Given the description of an element on the screen output the (x, y) to click on. 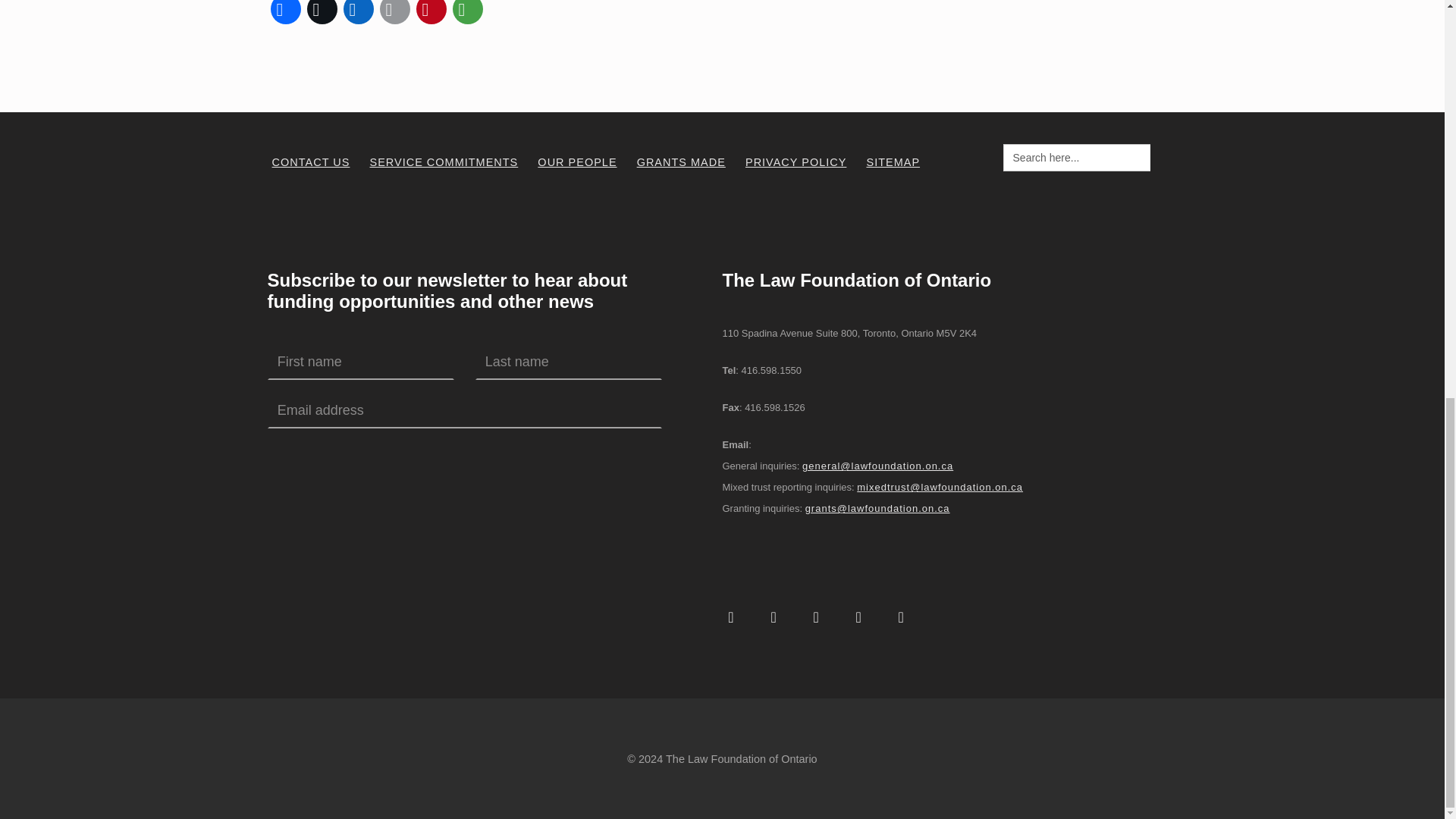
Facebook (284, 13)
More Options (466, 13)
Subscribe (474, 457)
Pinterest (430, 13)
Email This (393, 13)
LinkedIn (357, 13)
